Given the description of an element on the screen output the (x, y) to click on. 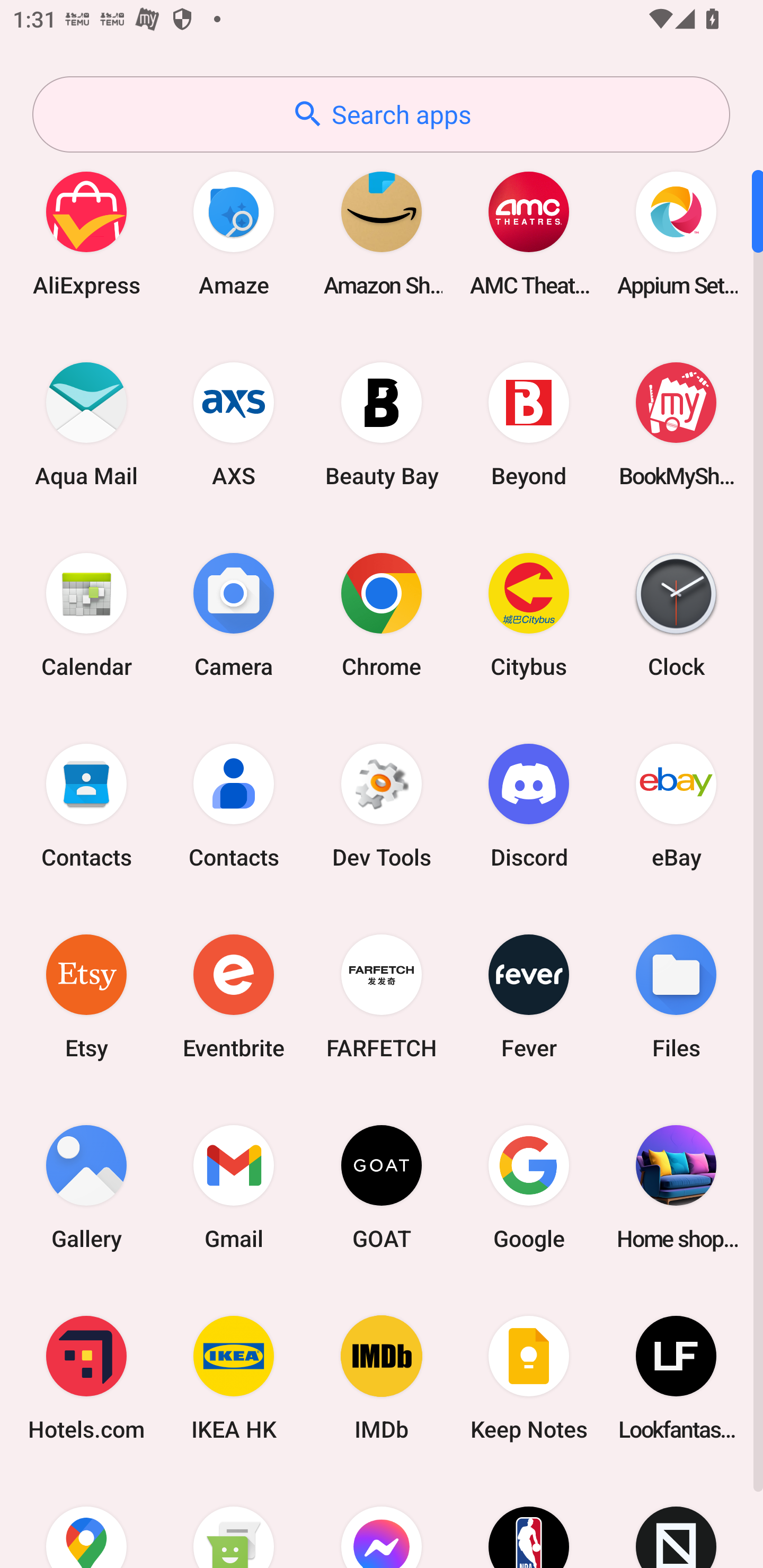
  Search apps (381, 114)
AliExpress (86, 233)
Amaze (233, 233)
Amazon Shopping (381, 233)
AMC Theatres (528, 233)
Appium Settings (676, 233)
Aqua Mail (86, 424)
AXS (233, 424)
Beauty Bay (381, 424)
Beyond (528, 424)
BookMyShow (676, 424)
Calendar (86, 614)
Camera (233, 614)
Chrome (381, 614)
Citybus (528, 614)
Clock (676, 614)
Contacts (86, 805)
Contacts (233, 805)
Dev Tools (381, 805)
Discord (528, 805)
eBay (676, 805)
Etsy (86, 996)
Eventbrite (233, 996)
FARFETCH (381, 996)
Fever (528, 996)
Files (676, 996)
Gallery (86, 1186)
Gmail (233, 1186)
GOAT (381, 1186)
Google (528, 1186)
Home shopping (676, 1186)
Hotels.com (86, 1377)
IKEA HK (233, 1377)
IMDb (381, 1377)
Keep Notes (528, 1377)
Lookfantastic (676, 1377)
